Given the description of an element on the screen output the (x, y) to click on. 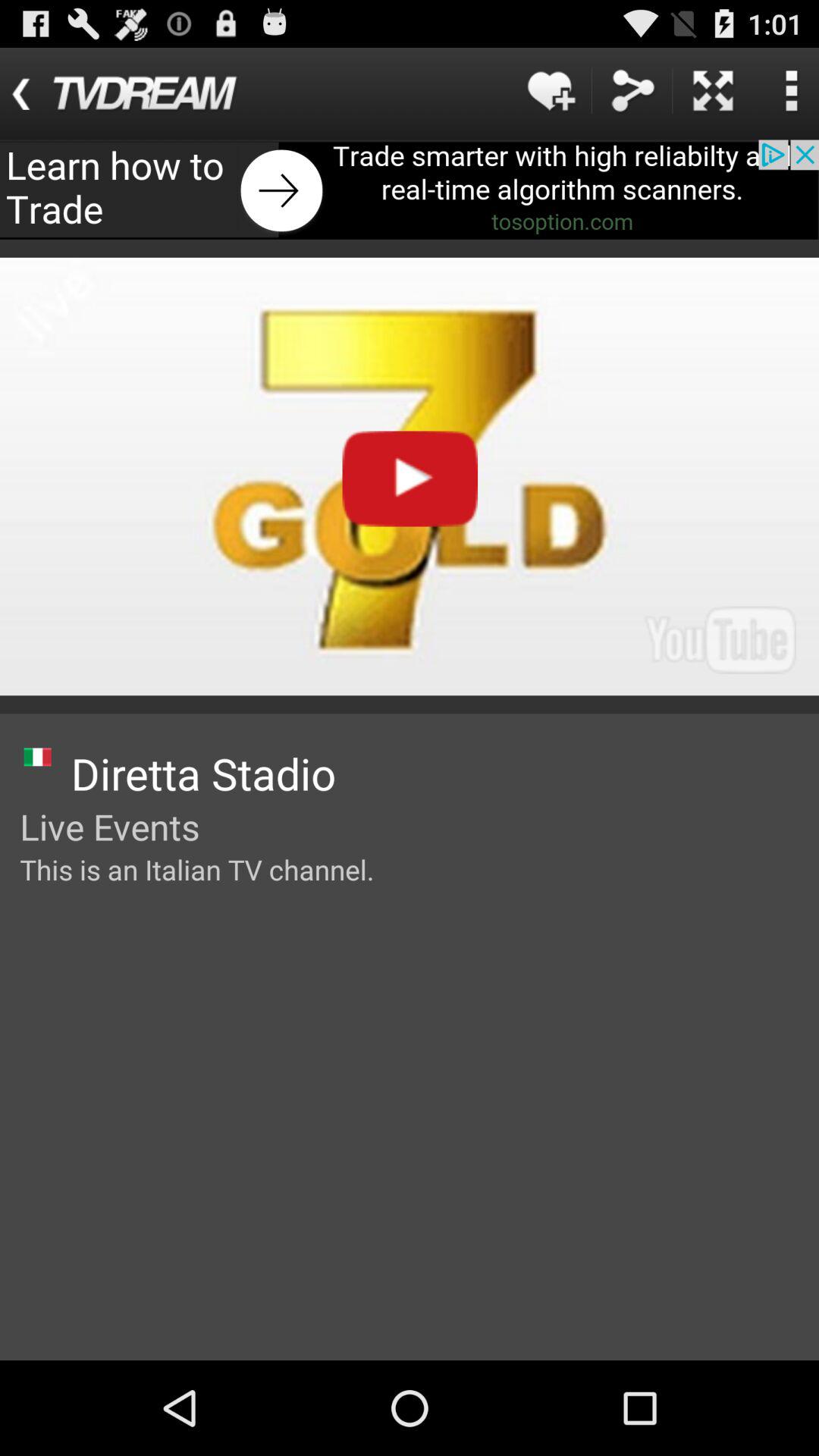
go to advertisement source (409, 189)
